Given the description of an element on the screen output the (x, y) to click on. 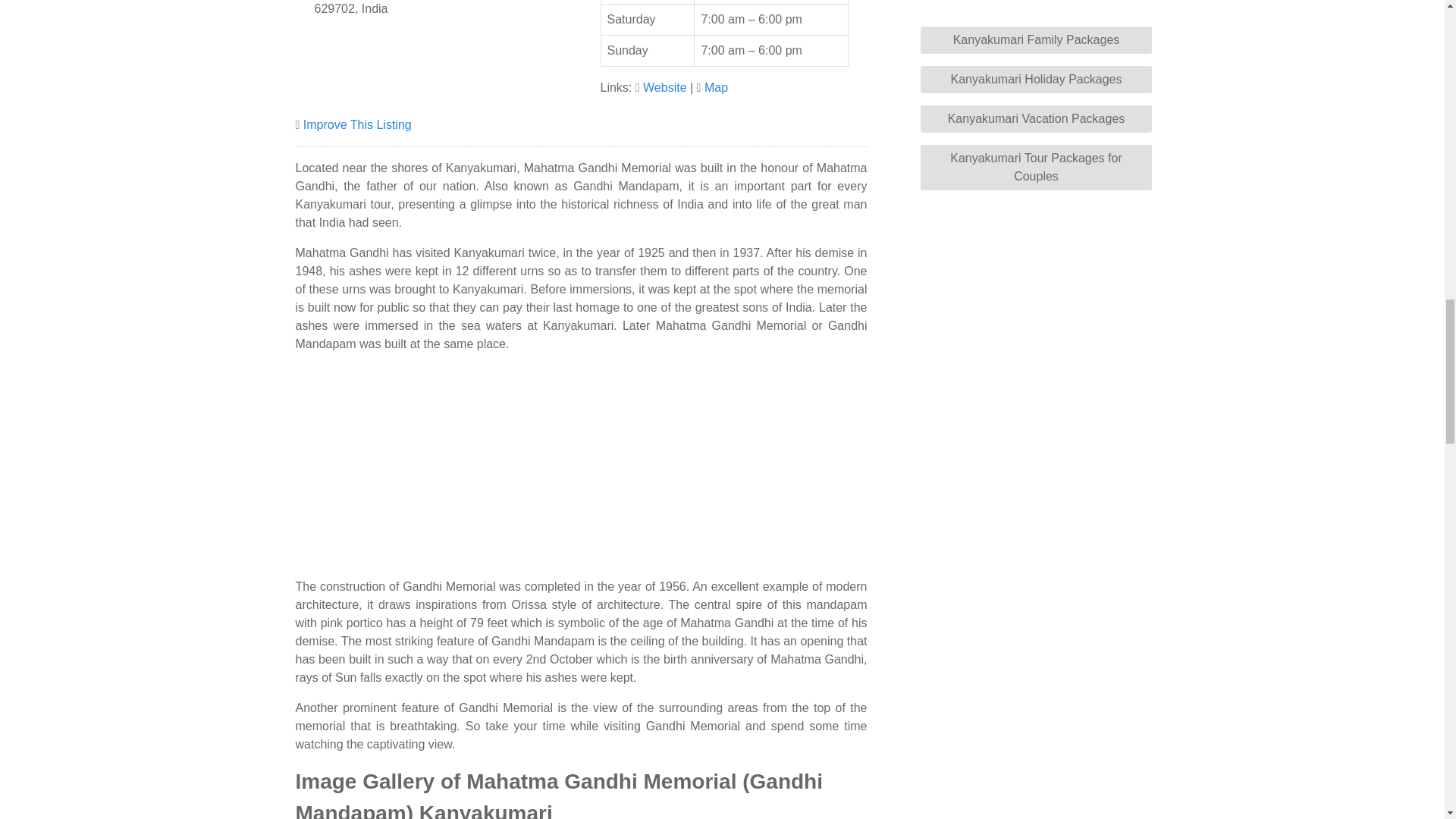
Website (665, 87)
Map (716, 87)
Advertisement (581, 471)
Mahatma Gandhi Memorial Kanyakumari Website (665, 87)
Improve This Listing (357, 124)
Map for Mahatma Gandhi Memorial (716, 87)
